Given the description of an element on the screen output the (x, y) to click on. 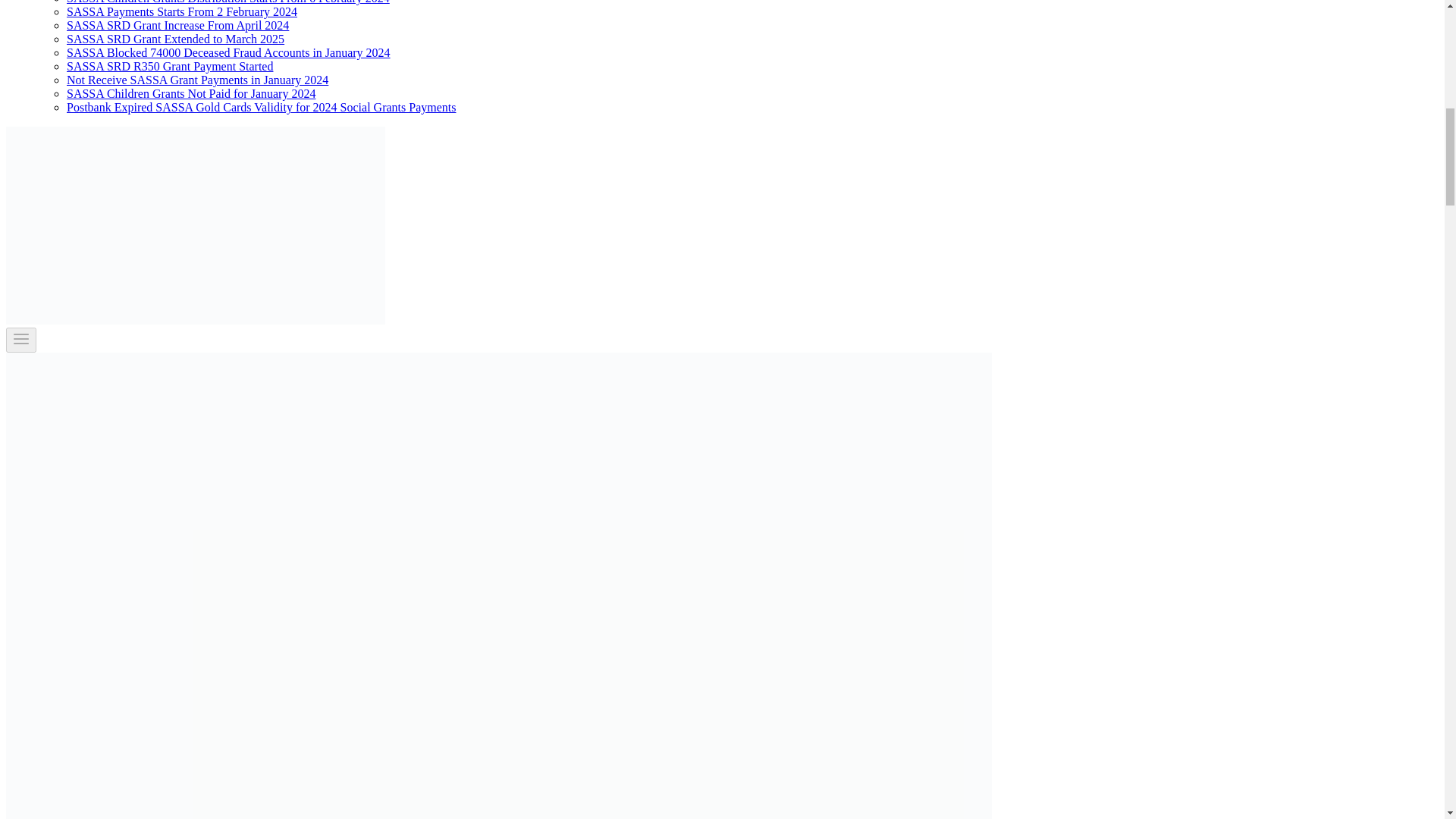
Toggle Menu (20, 339)
